Given the description of an element on the screen output the (x, y) to click on. 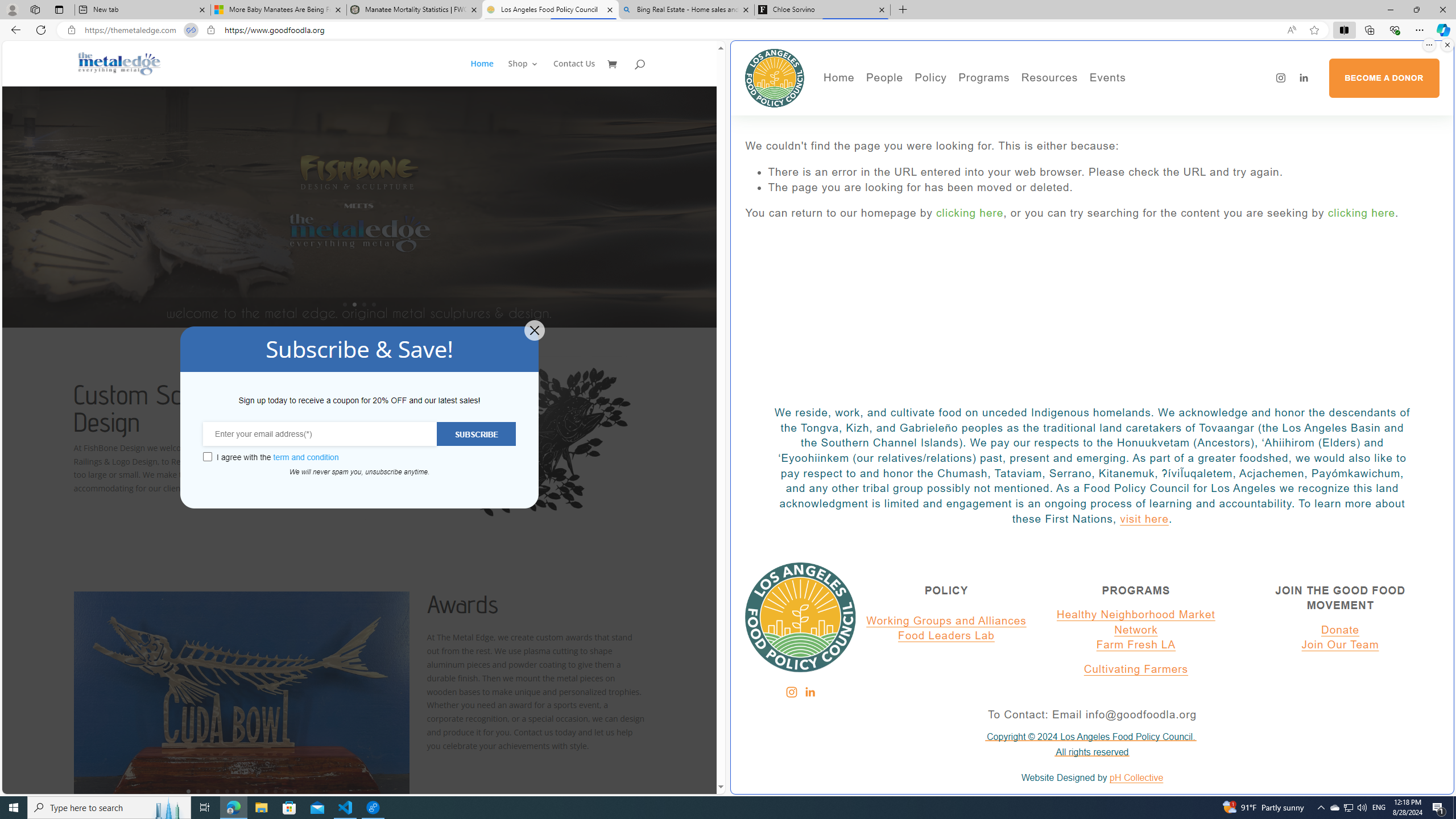
Cultivating Farmers (1015, 132)
10 (275, 790)
Chloe Sorvino (822, 9)
Resources (1049, 77)
Bing Real Estate - Home sales and rental listings (685, 9)
5 (226, 790)
Working Groups and Alliances (946, 620)
11 (284, 790)
Shop 3 (523, 72)
